Given the description of an element on the screen output the (x, y) to click on. 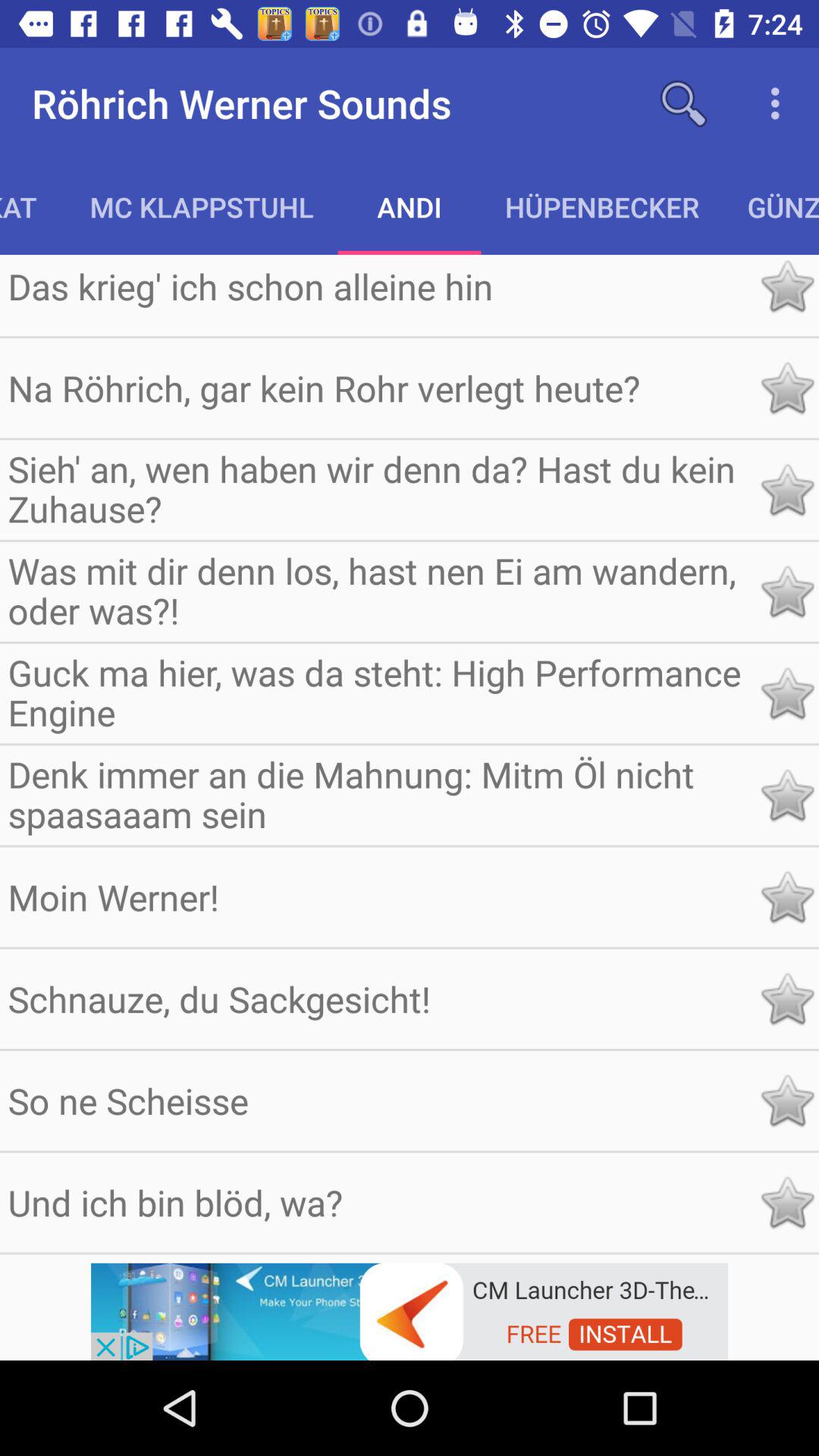
favorite (787, 387)
